Given the description of an element on the screen output the (x, y) to click on. 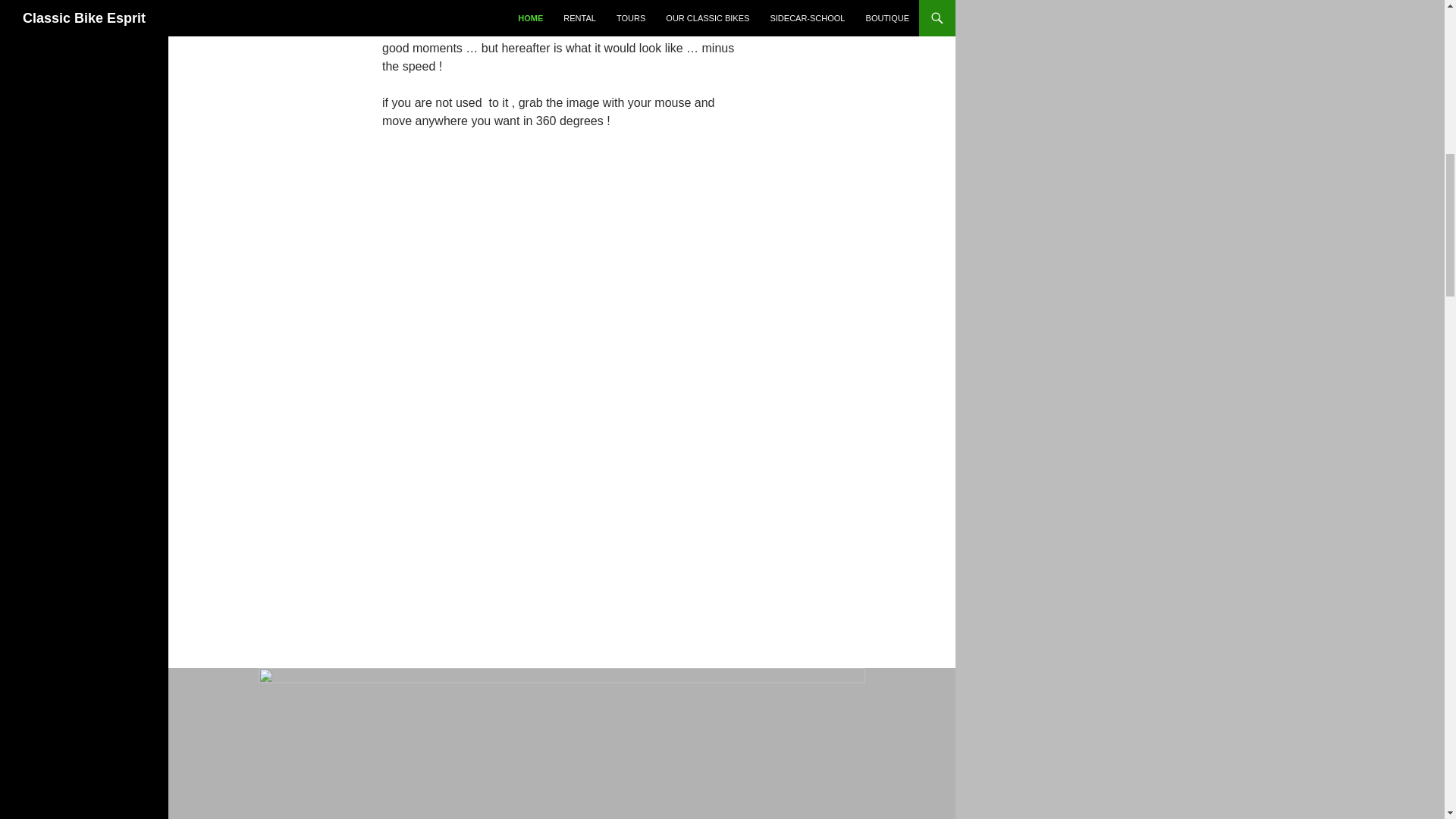
Wistia video player (561, 512)
